Given the description of an element on the screen output the (x, y) to click on. 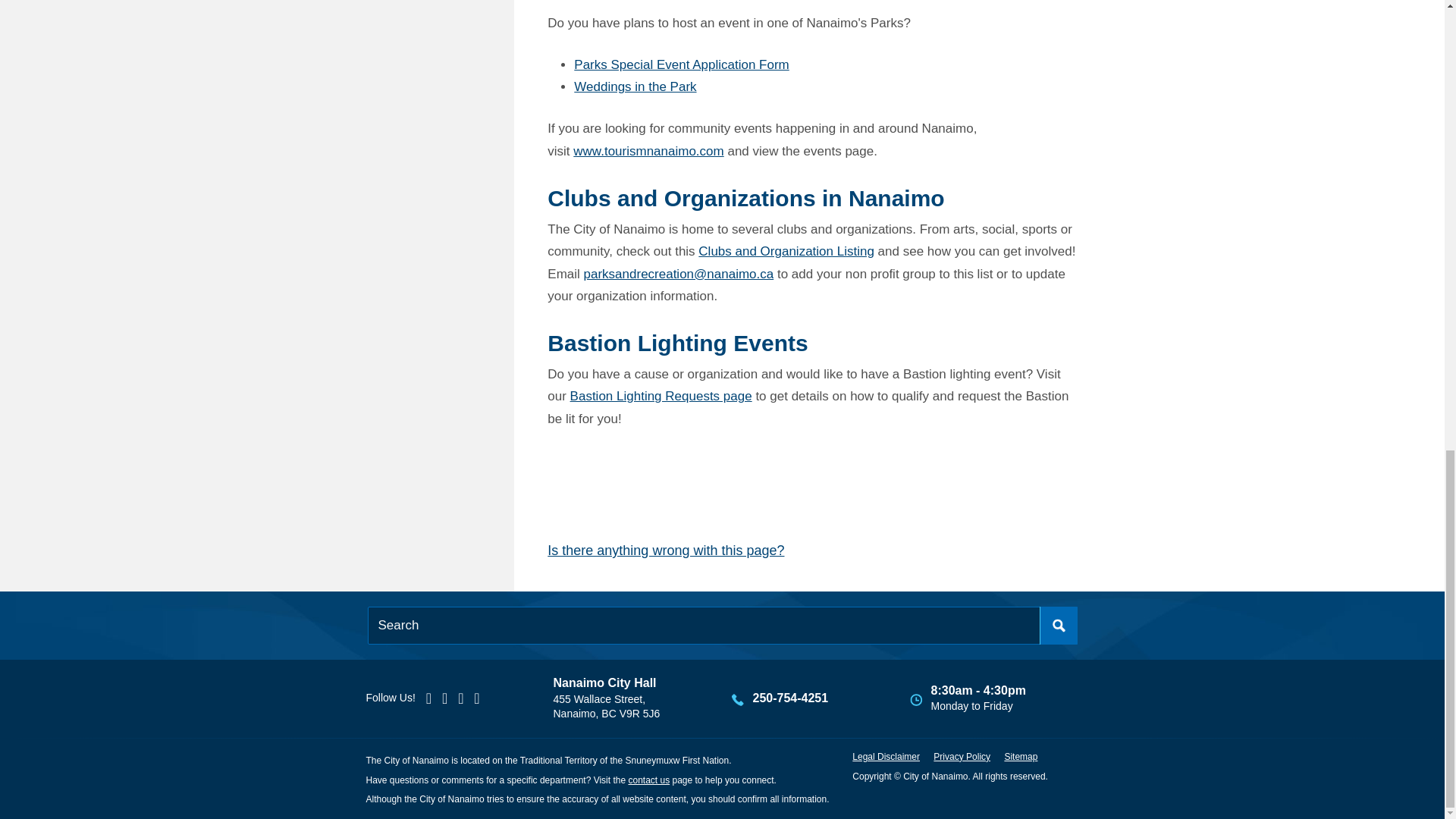
Weddings in the Park (634, 86)
clubsandorganizations (786, 251)
Search input (721, 625)
